Given the description of an element on the screen output the (x, y) to click on. 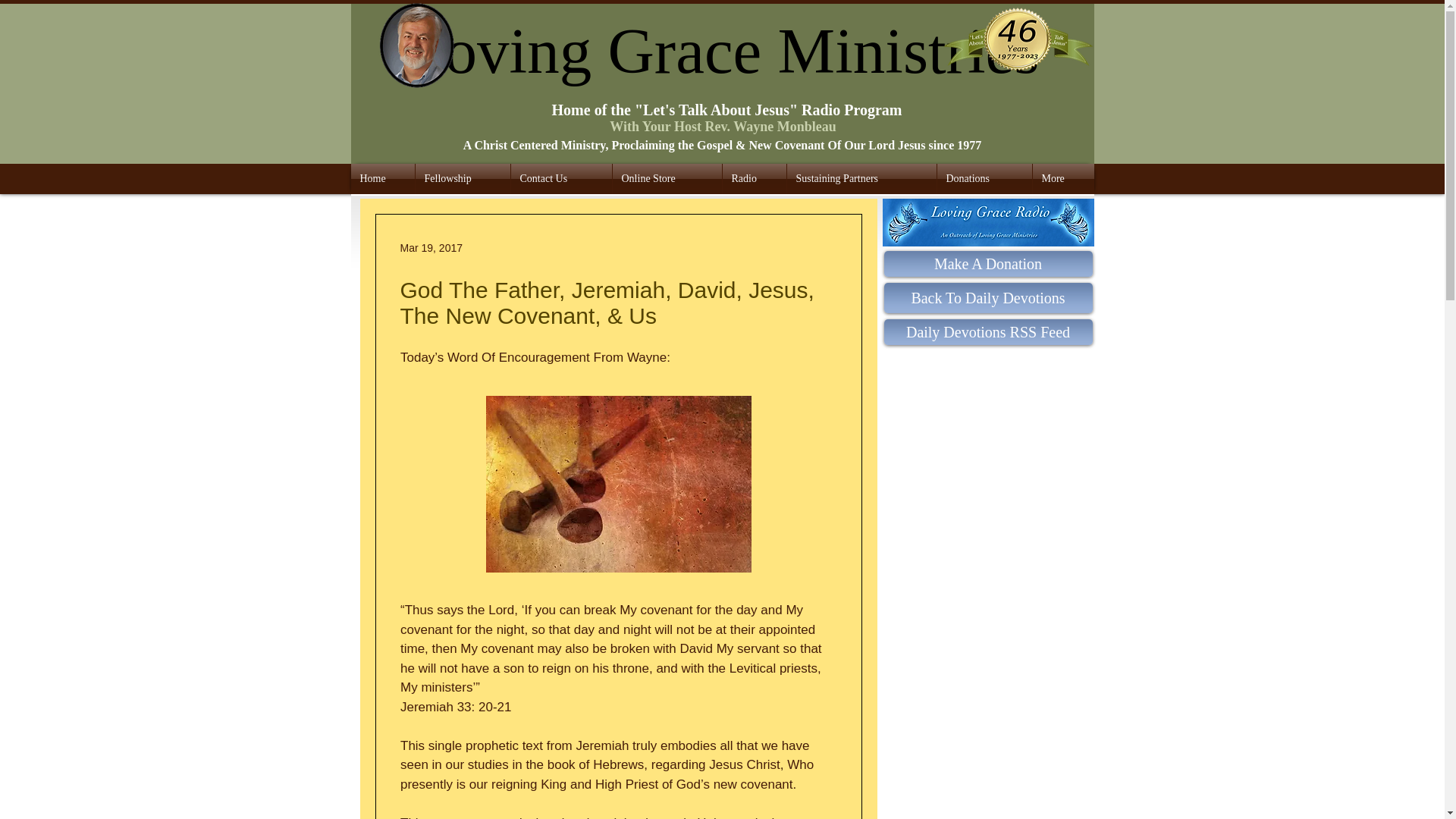
Fellowship (462, 178)
Wayne Monbleau (418, 45)
Radio (754, 178)
Home (381, 178)
logo41.png (1017, 43)
Online Store (667, 178)
Sustaining Partners (861, 178)
Donations (984, 178)
Mar 19, 2017 (431, 246)
Contact Us (561, 178)
